Given the description of an element on the screen output the (x, y) to click on. 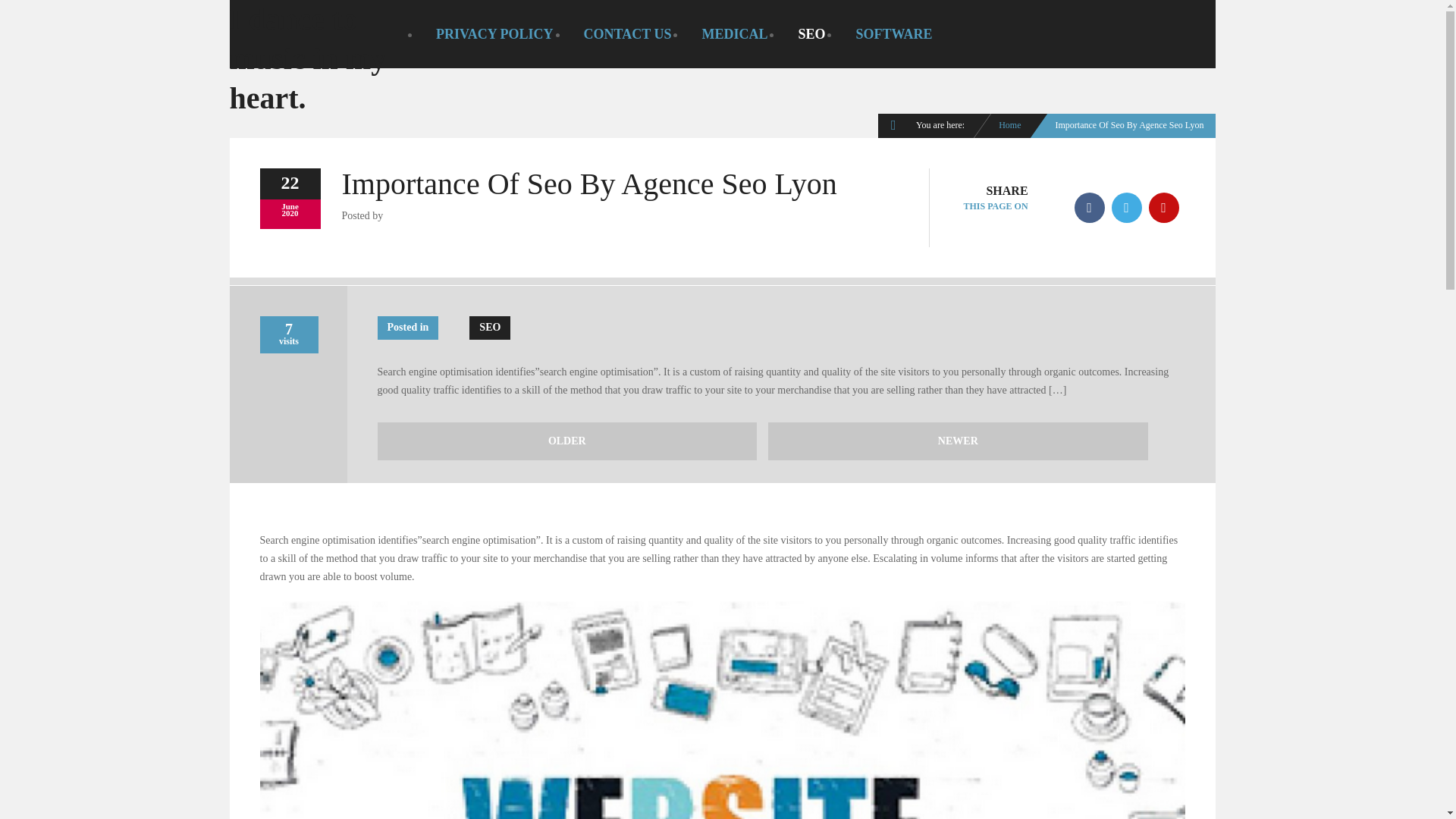
SEO (811, 33)
Home (1009, 124)
Link to yearly archives: 2020 (289, 212)
2020 (289, 212)
I dance to music in my heart. (1009, 124)
PRIVACY POLICY (494, 33)
OLDER (567, 441)
I dance to music in my heart. (306, 58)
CONTACT US (628, 33)
Link to monthly archives: June (289, 205)
